Given the description of an element on the screen output the (x, y) to click on. 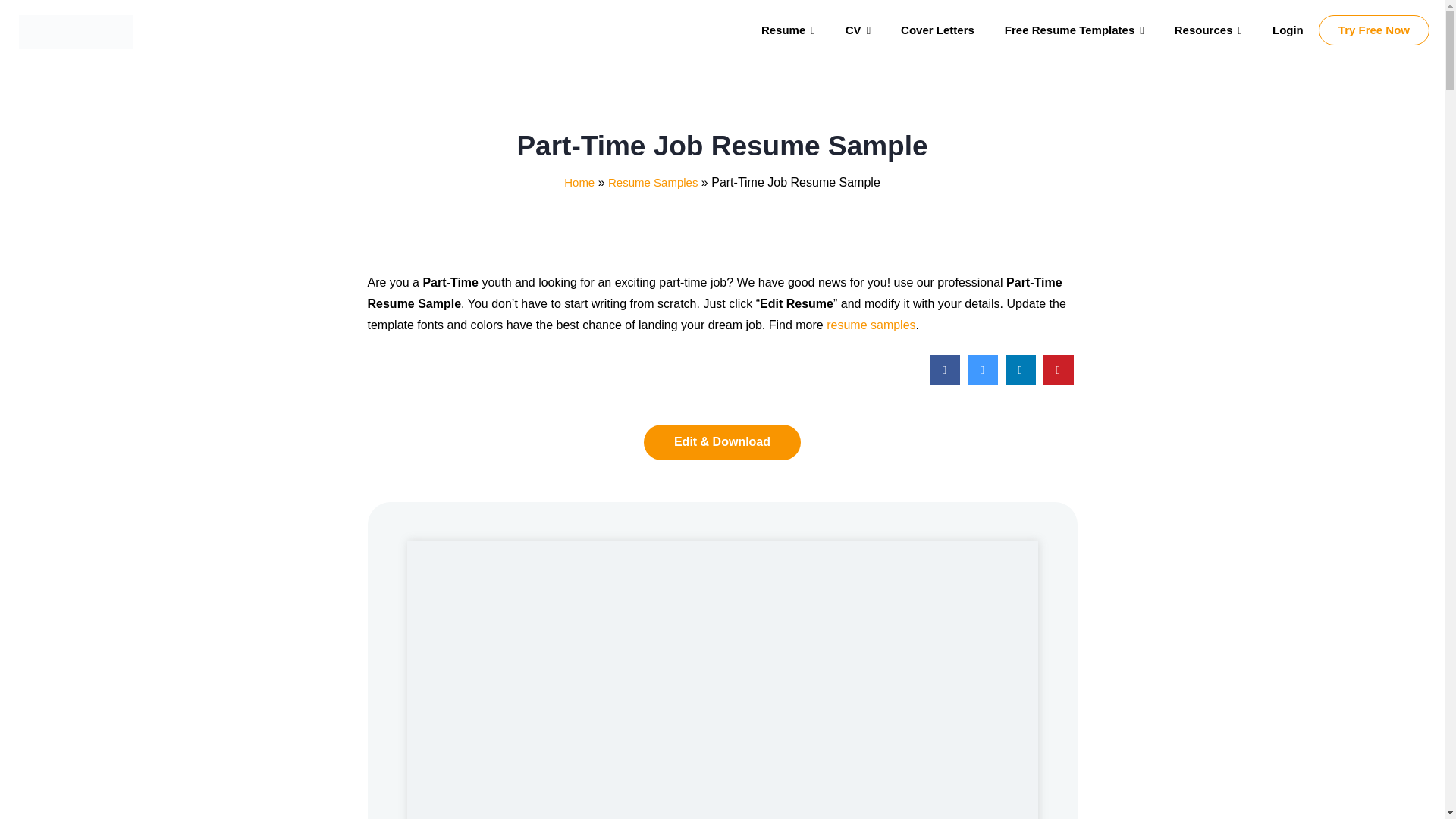
Resources (1207, 30)
Share on Facebook (944, 380)
Try Free Now (1374, 30)
Free Resume Templates (1074, 30)
Resume Samples (652, 182)
CV (857, 30)
Share on Twitter (982, 380)
Share to LinkedIn (1020, 380)
Home (579, 182)
Cover Letters (937, 30)
